Given the description of an element on the screen output the (x, y) to click on. 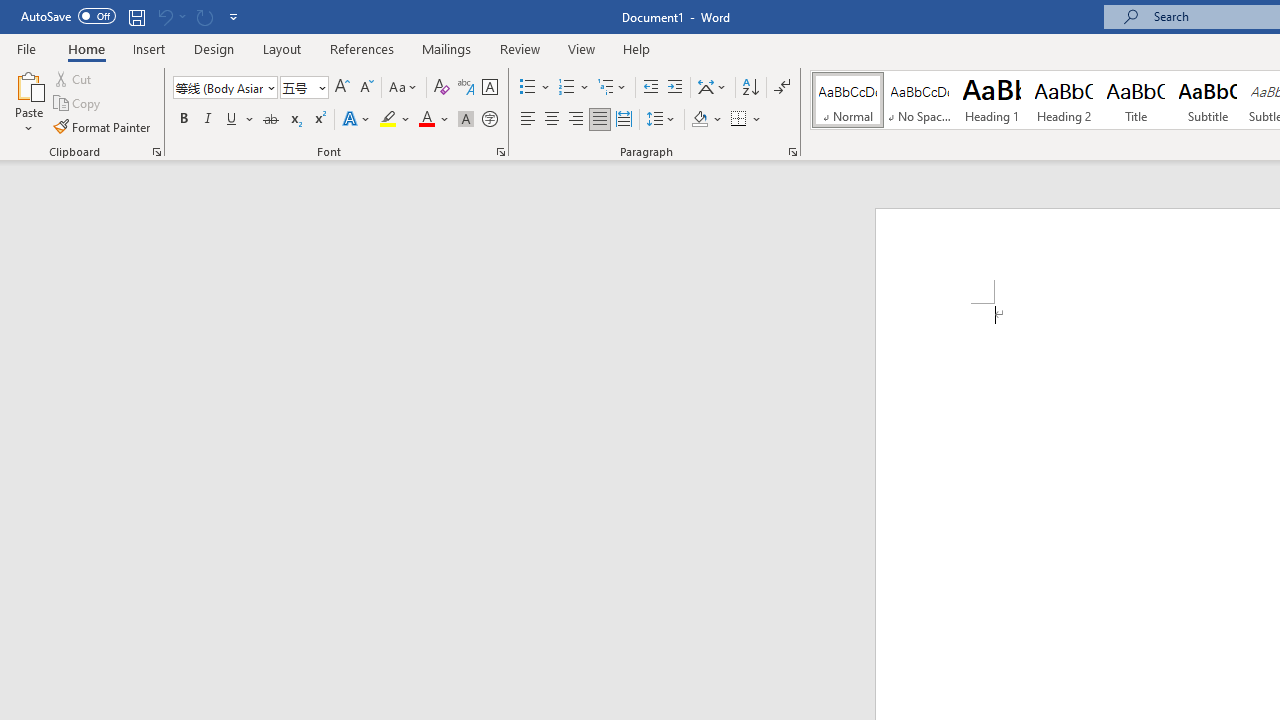
Can't Repeat (204, 15)
Font Color Red (426, 119)
